Given the description of an element on the screen output the (x, y) to click on. 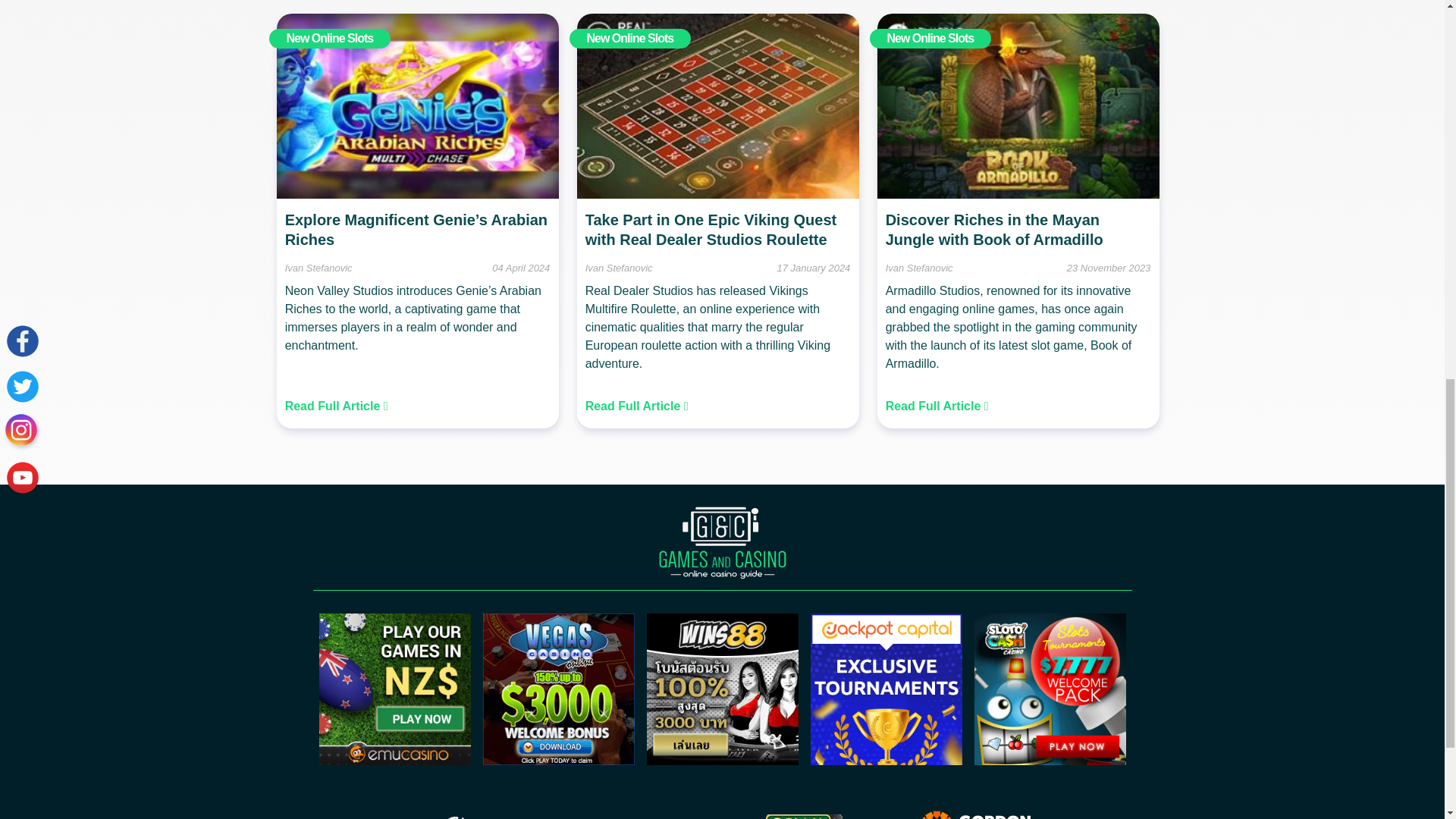
Games and Casinos - online casino guide (722, 542)
EmuCasino (394, 760)
Wins88 Casino (721, 760)
Vegas Casino Online (557, 760)
Sloto'Cash Casino (1049, 760)
Jackpot Capital (884, 760)
